Given the description of an element on the screen output the (x, y) to click on. 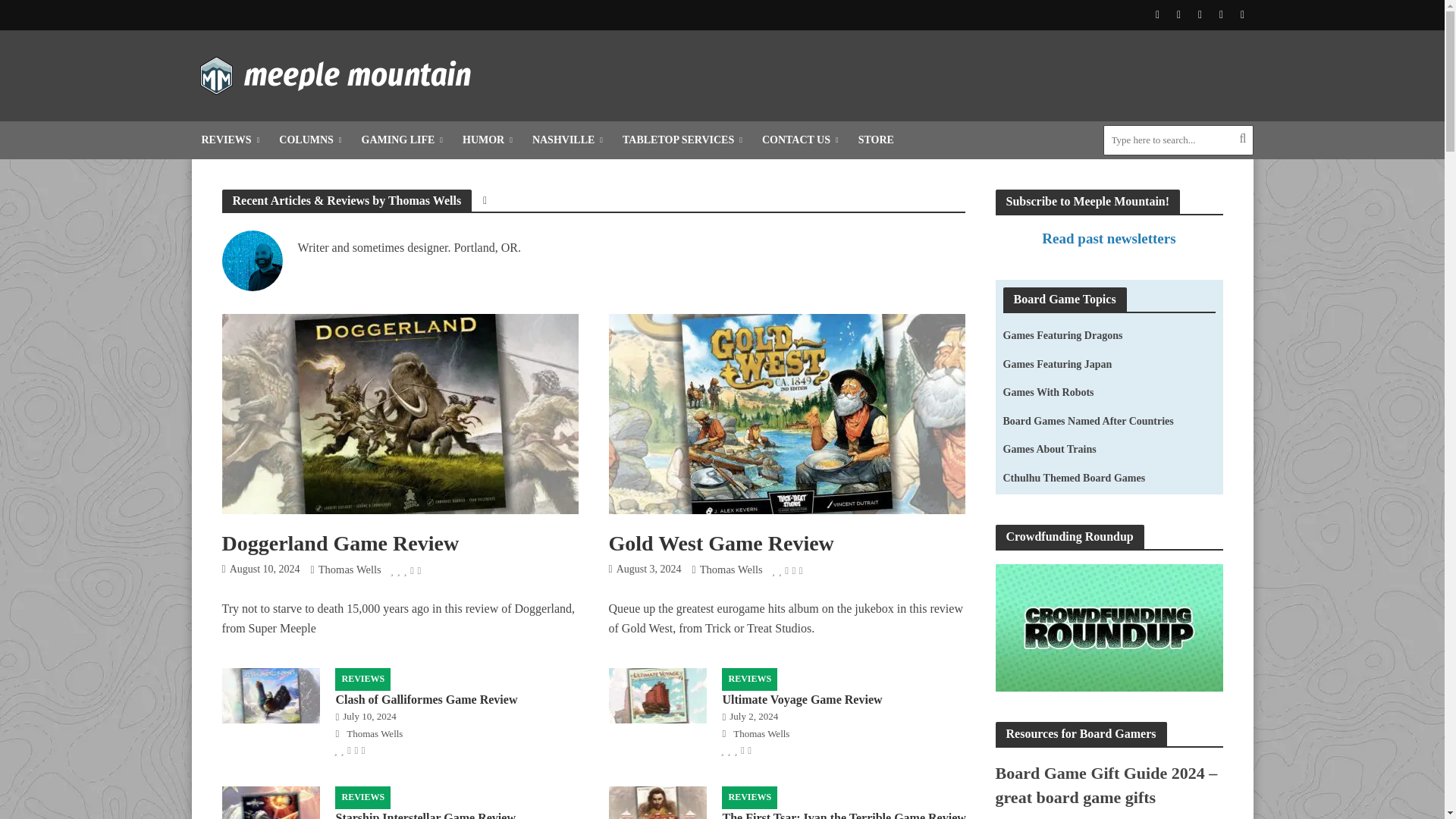
REVIEWS (229, 139)
Doggerland Game Review (399, 412)
HUMOR (487, 139)
Clash of Galliformes Game Review (270, 694)
Gold West Game Review (785, 412)
NASHVILLE (567, 139)
Ultimate Voyage Game Review (657, 694)
GAMING LIFE (402, 139)
Starship Interstellar Game Review (270, 812)
COLUMNS (309, 139)
